Given the description of an element on the screen output the (x, y) to click on. 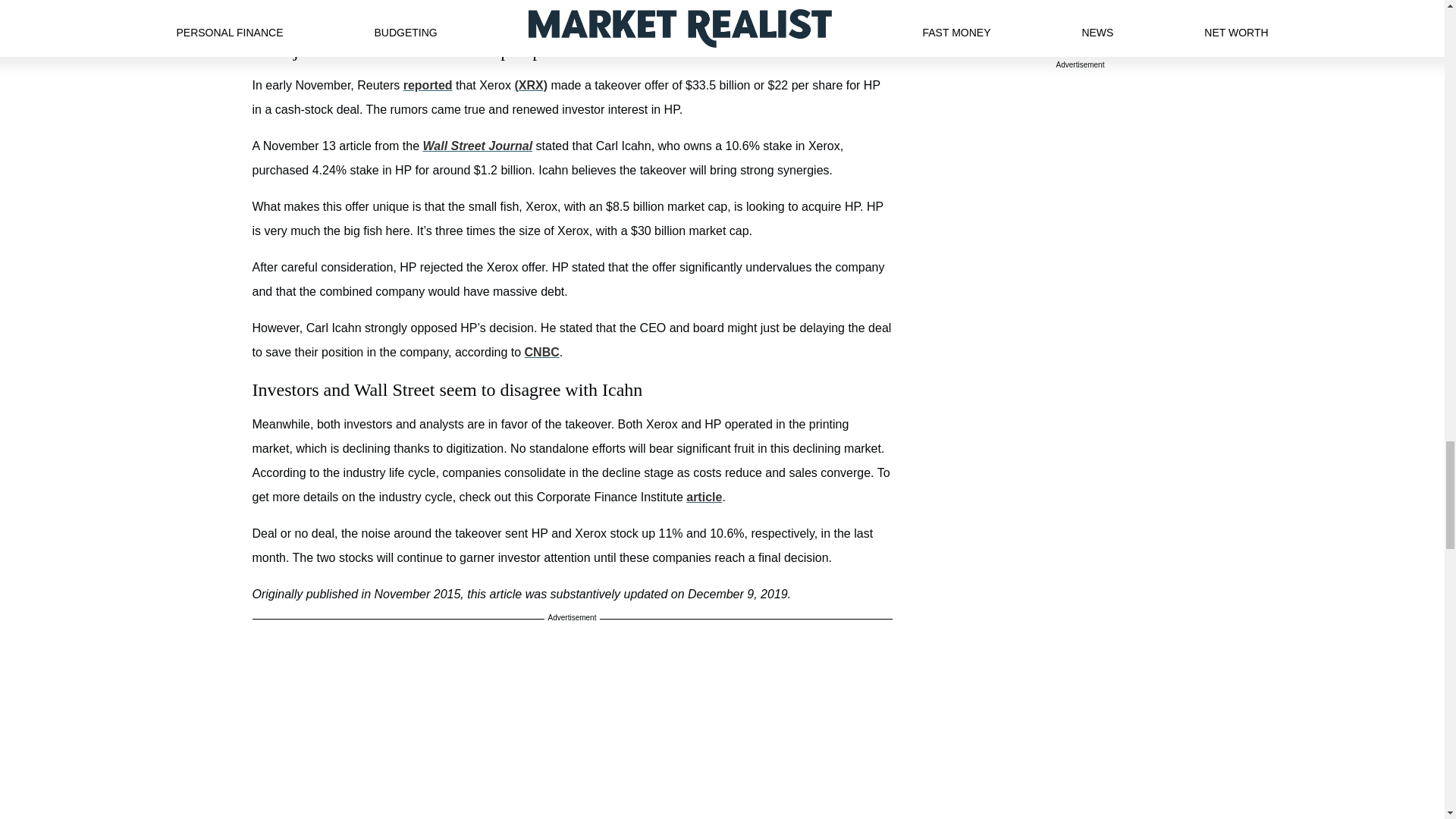
Wall Street Journal (477, 145)
CNBC (541, 351)
reported (427, 84)
article (703, 496)
